Given the description of an element on the screen output the (x, y) to click on. 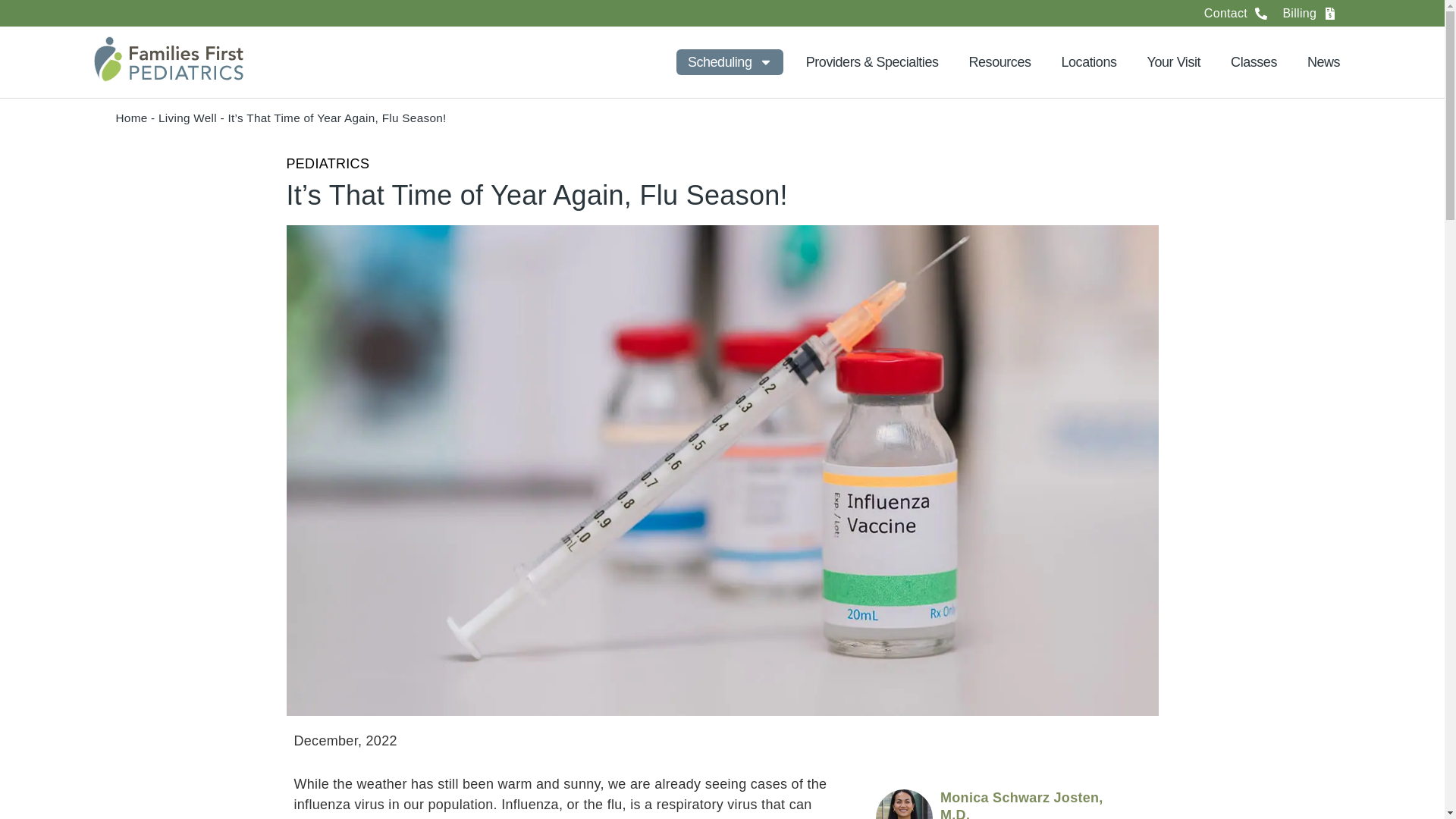
Scheduling (730, 62)
Billing (1308, 15)
Contact (1235, 15)
